Given the description of an element on the screen output the (x, y) to click on. 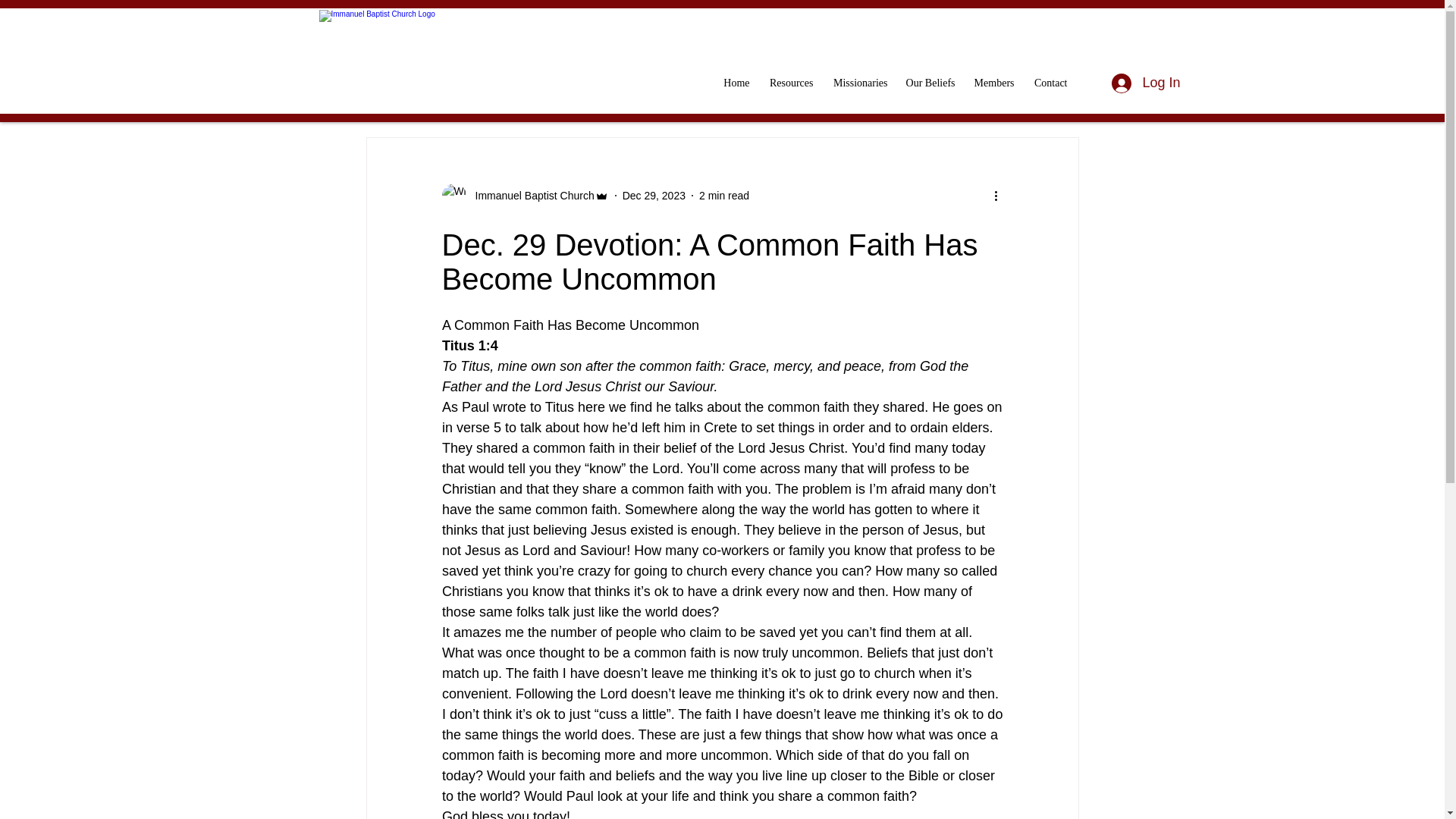
Immanuel Baptist Church (529, 195)
Resources (789, 83)
Dec 29, 2023 (654, 195)
Log In (1145, 82)
Contact (1048, 83)
Immanuel Baptist Church (524, 195)
Members (992, 83)
Missionaries (858, 83)
Home (735, 83)
Our Beliefs (928, 83)
